Given the description of an element on the screen output the (x, y) to click on. 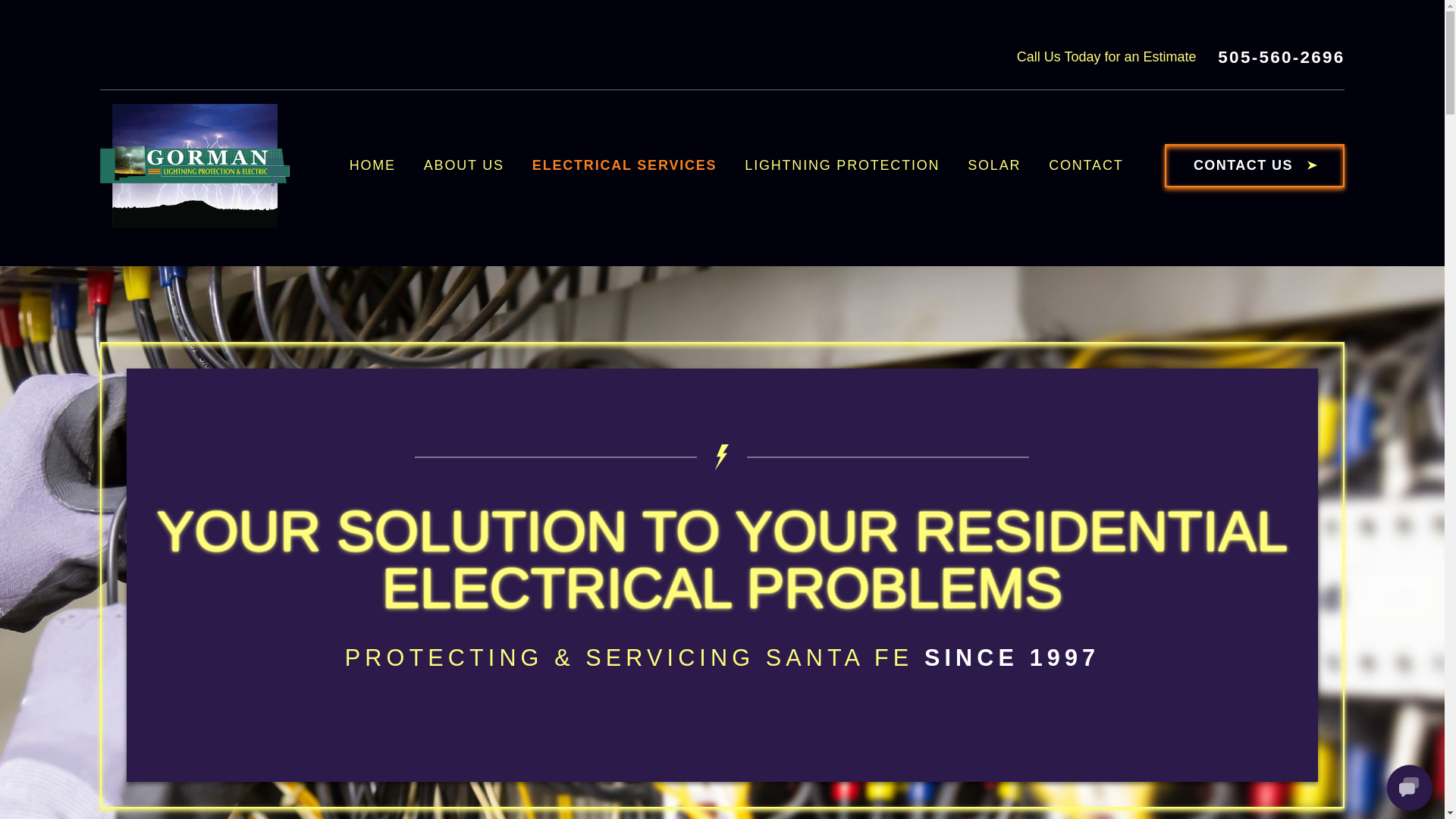
CONTACT US (1253, 166)
CONTACT (1094, 166)
ABOUT US (472, 166)
LIGHTNING PROTECTION (850, 166)
SOLAR (1003, 166)
Open the accessibility options menu (1412, 786)
HOME (381, 166)
505-560-2696 (1280, 56)
ELECTRICAL SERVICES (632, 166)
